Given the description of an element on the screen output the (x, y) to click on. 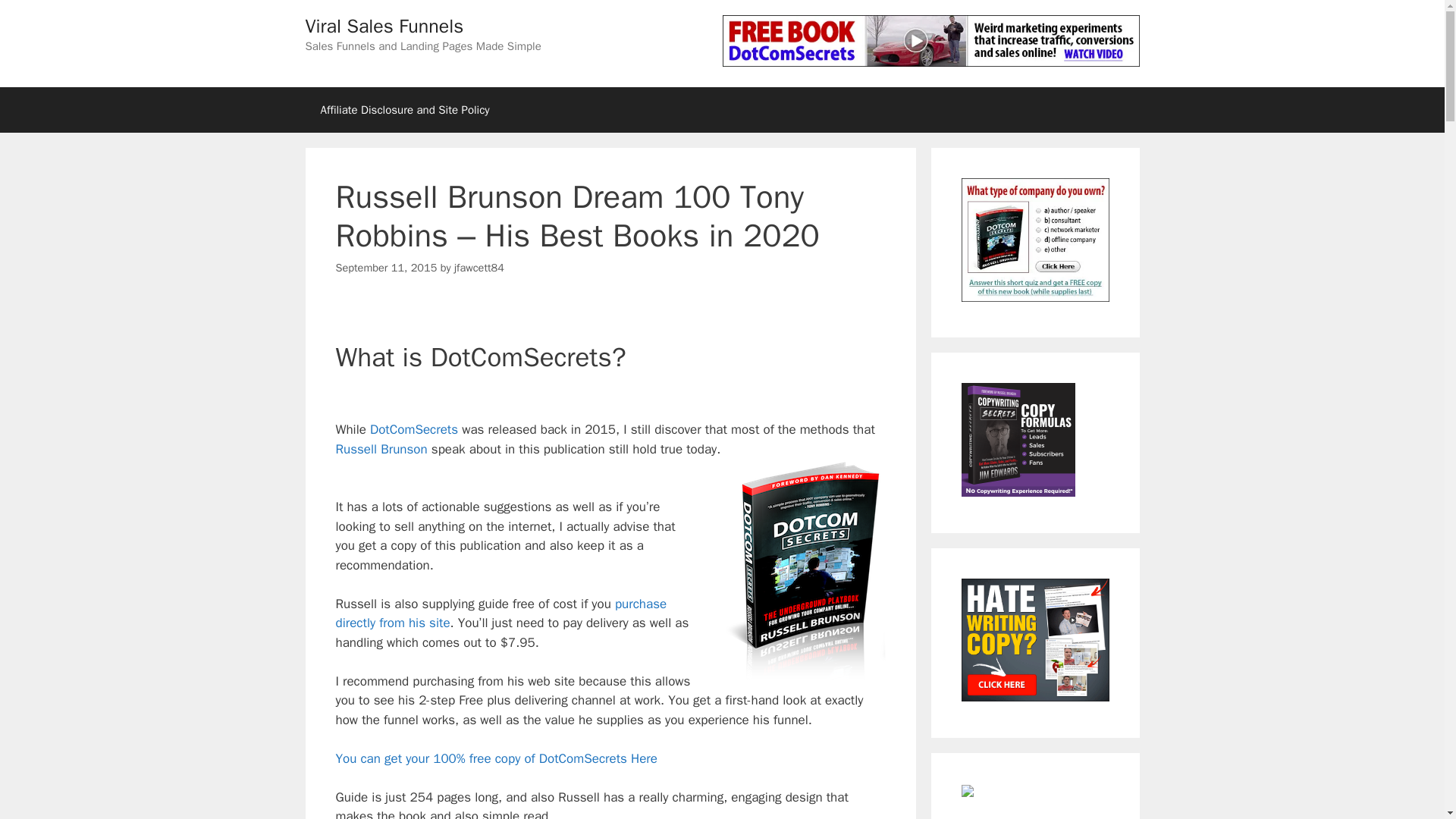
Affiliate Disclosure and Site Policy (403, 109)
DotComSecrets (413, 429)
Russell Brunson (380, 449)
purchase directly from his site (500, 613)
Viral Sales Funnels (383, 25)
View all posts by jfawcett84 (478, 267)
jfawcett84 (478, 267)
